Given the description of an element on the screen output the (x, y) to click on. 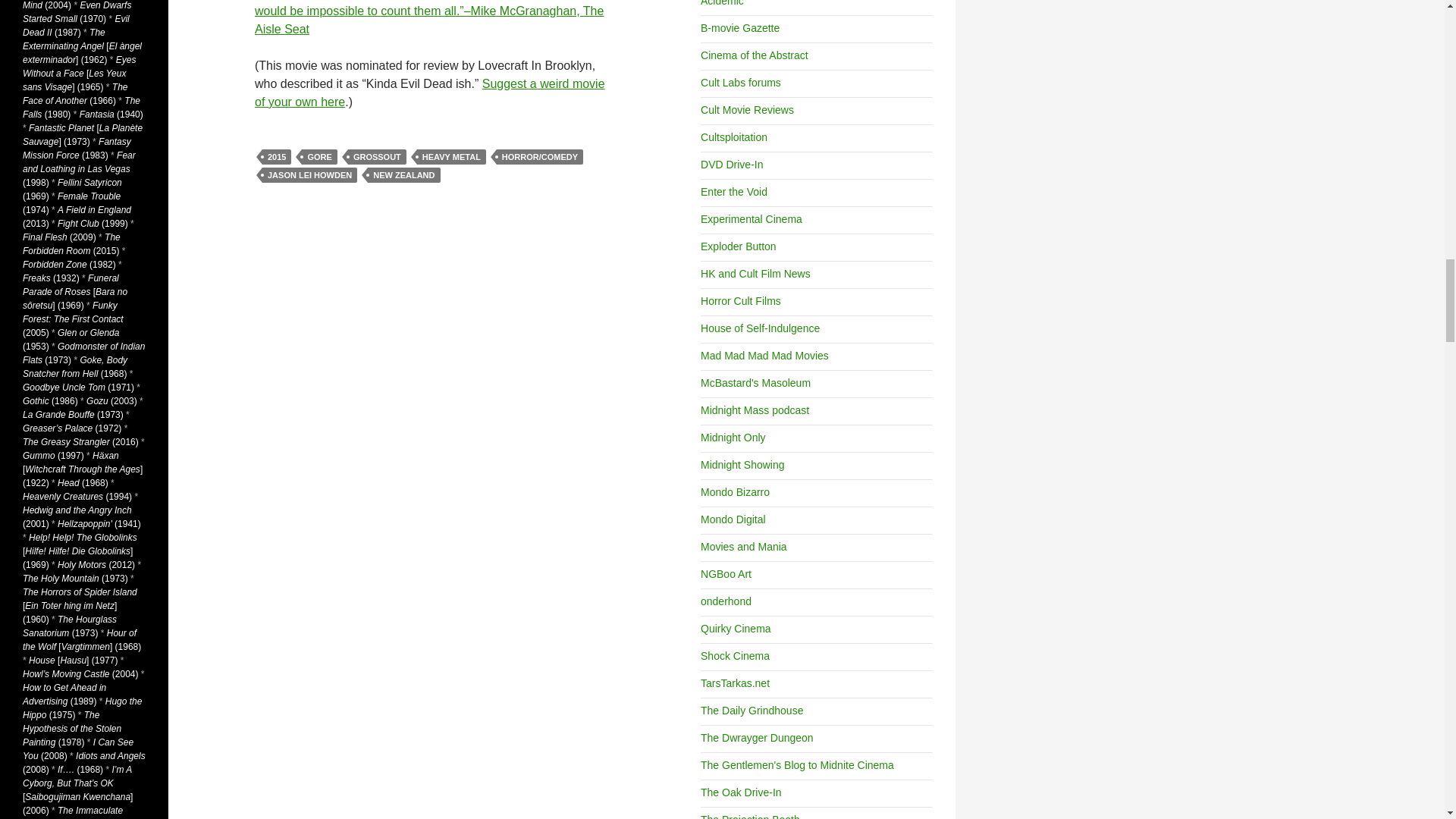
News and resources on experimental films (751, 218)
NEW ZEALAND (403, 174)
JASON LEI HOWDEN (309, 174)
GROSSOUT (376, 156)
100 of the best B-movie blogs out there (739, 28)
2015 (276, 156)
HEAVY METAL (451, 156)
Suggest a weird movie of your own here (429, 92)
Focusing on Hong Kong and Asian cult films (755, 273)
The latest cult movie DVD reviews (731, 164)
Formerly WTF-Film (738, 246)
GORE (318, 156)
